Given the description of an element on the screen output the (x, y) to click on. 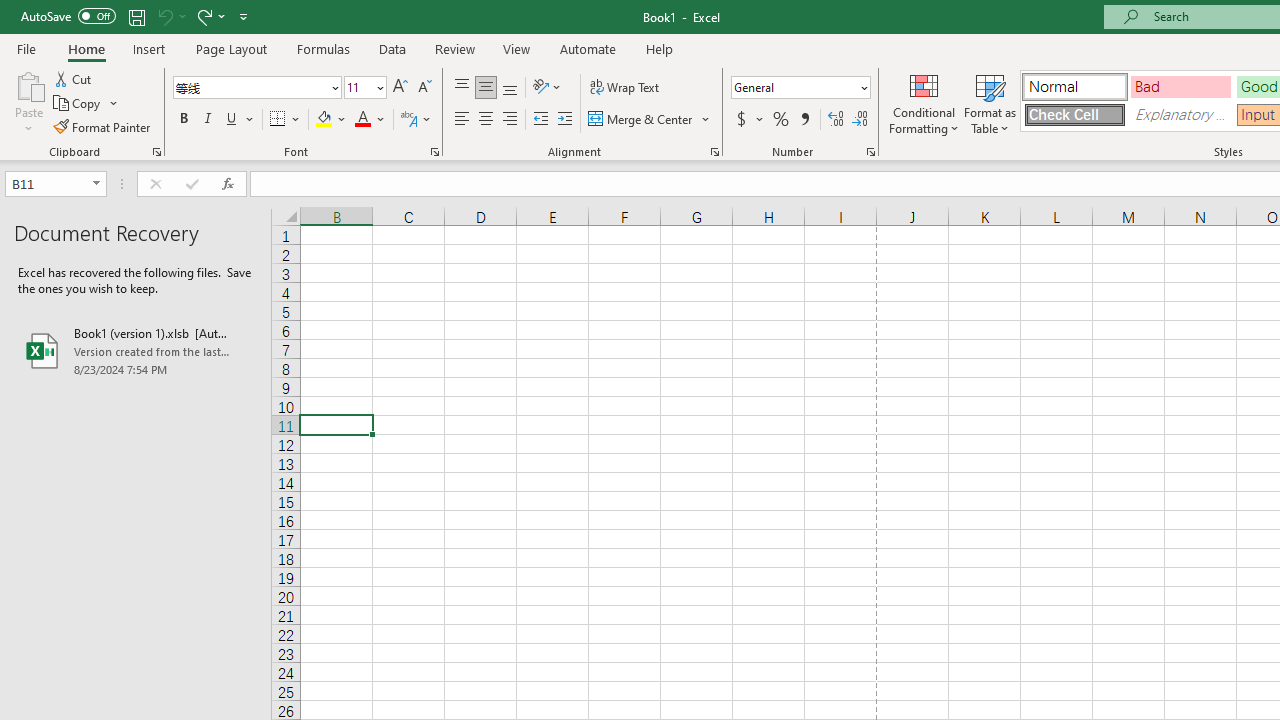
Merge & Center (641, 119)
Bottom Border (278, 119)
Book1 (version 1).xlsb  [AutoRecovered] (136, 350)
Copy (85, 103)
Cut (73, 78)
Accounting Number Format (741, 119)
Top Align (461, 87)
Font Color RGB(255, 0, 0) (362, 119)
Show Phonetic Field (416, 119)
Font (256, 87)
